Given the description of an element on the screen output the (x, y) to click on. 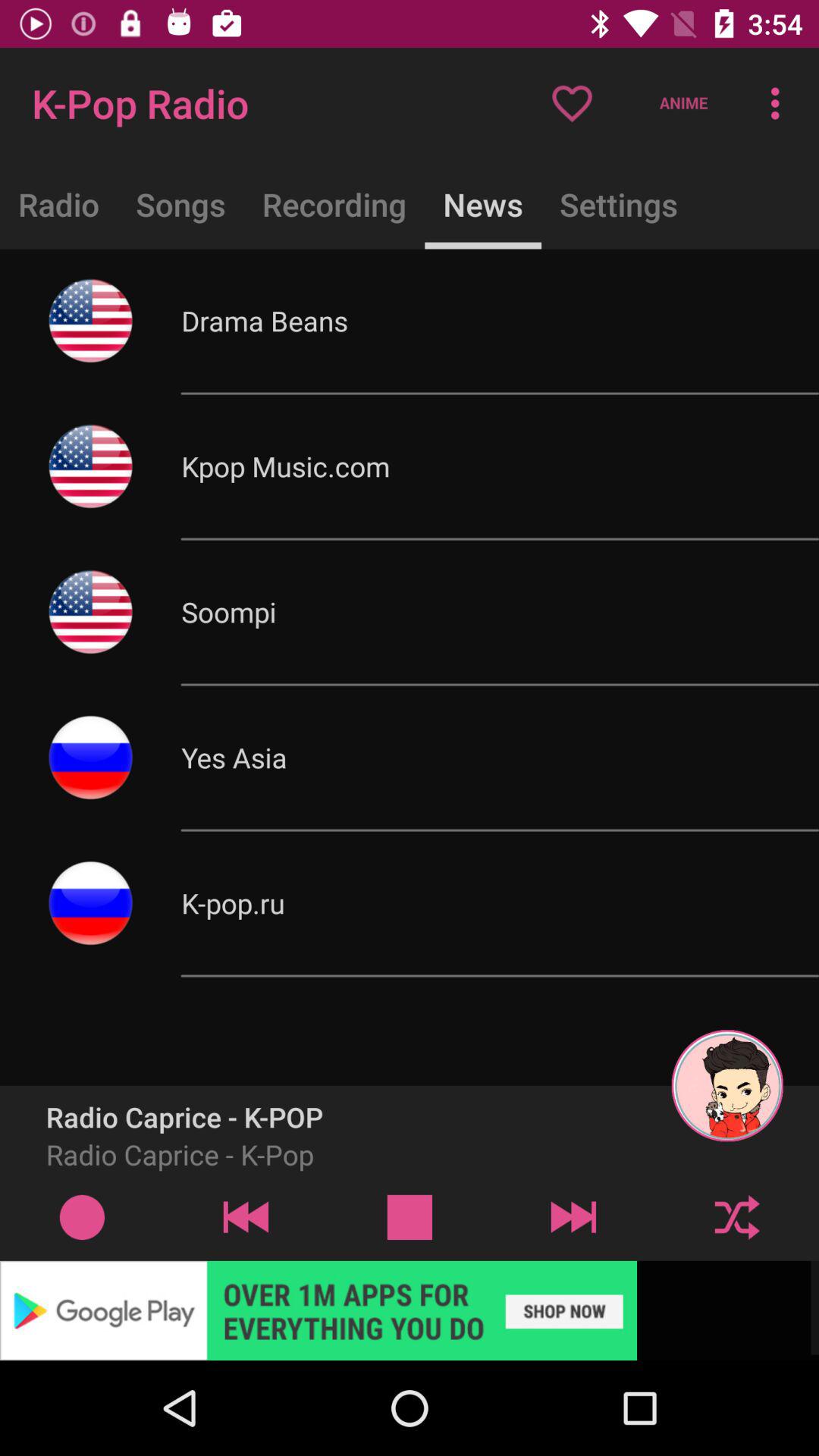
stop (409, 1216)
